Given the description of an element on the screen output the (x, y) to click on. 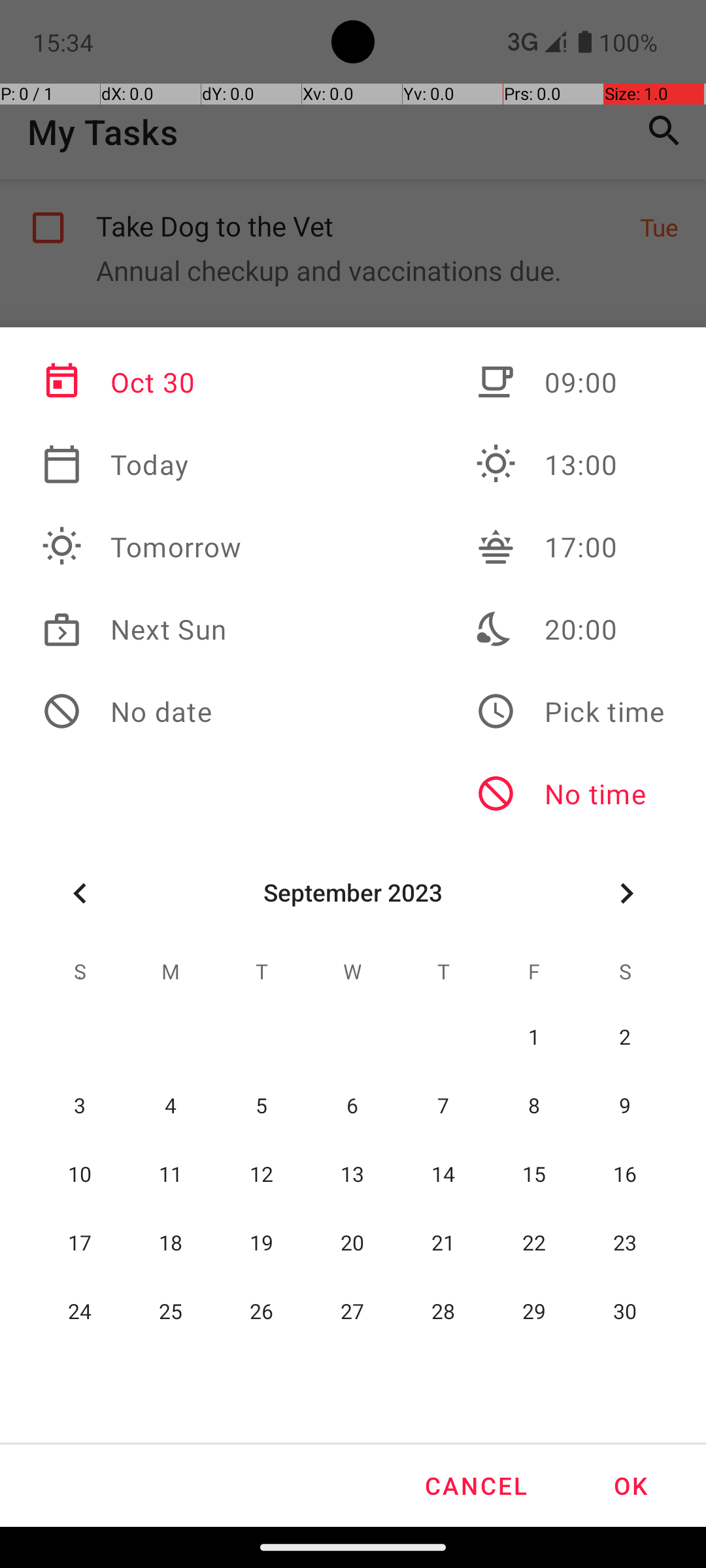
Oct 30 Element type: android.widget.CompoundButton (141, 382)
Tomorrow Element type: android.widget.CompoundButton (141, 546)
Next Sun Element type: android.widget.CompoundButton (141, 629)
No date Element type: android.widget.CompoundButton (141, 711)
20:00 Element type: android.widget.CompoundButton (569, 629)
No time Element type: android.widget.CompoundButton (569, 793)
